Given the description of an element on the screen output the (x, y) to click on. 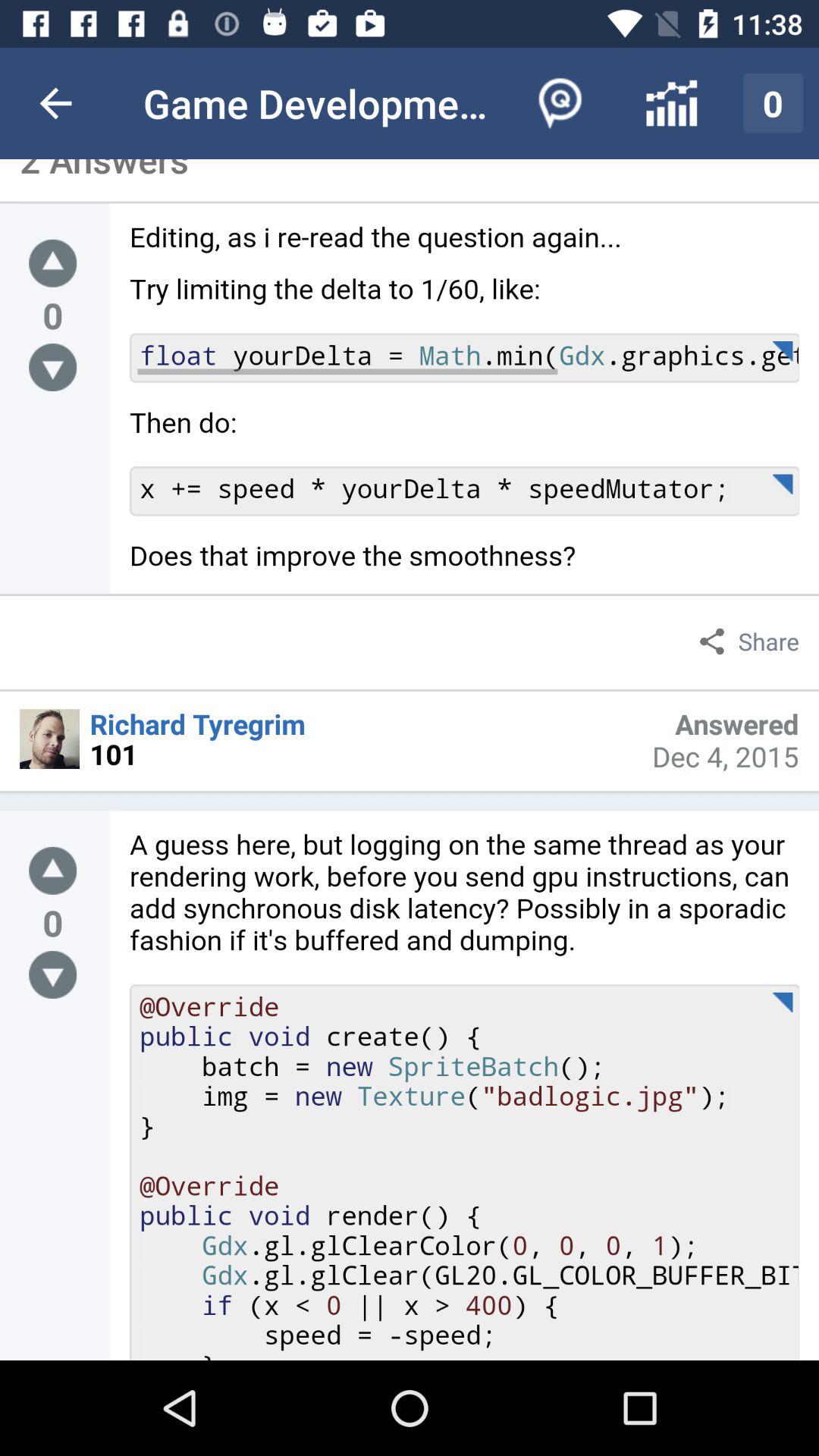
down arrow (52, 367)
